Given the description of an element on the screen output the (x, y) to click on. 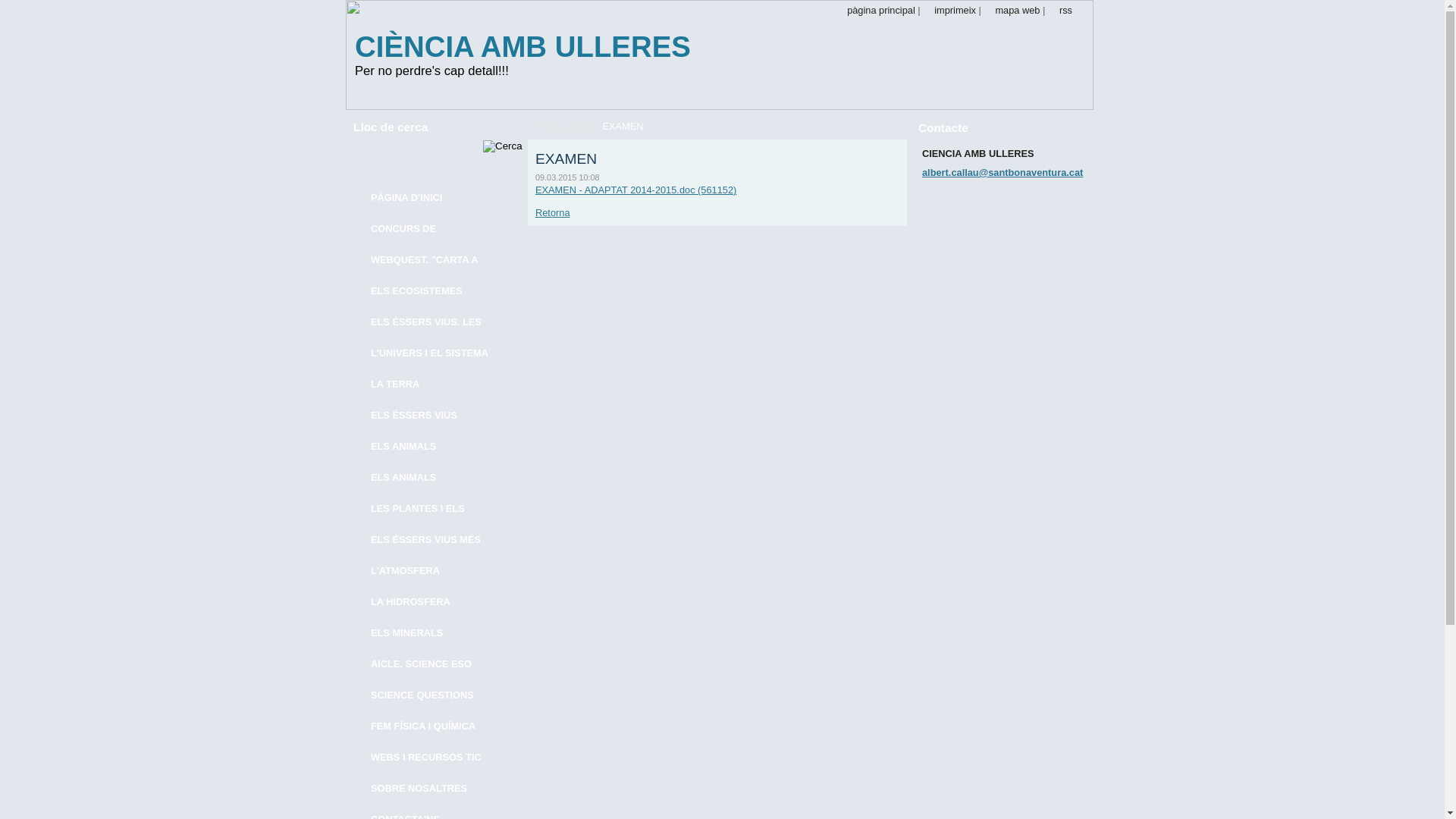
SCIENCE QUESTIONS Element type: text (426, 695)
ELS MINERALS Element type: text (426, 633)
Retorna Element type: text (552, 212)
LA TERRA Element type: text (426, 384)
mapa web Element type: text (1011, 9)
rss Element type: text (1060, 9)
L'UNIVERS I EL SISTEMA SOLAR Element type: text (426, 353)
ELS ANIMALS VERTEBRATS Element type: text (426, 446)
SOBRE NOSALTRES Element type: text (426, 788)
AICLE. SCIENCE ESO Element type: text (426, 664)
imprimeix Element type: text (948, 9)
WEBS I RECURSOS TIC Element type: text (426, 757)
ELS ANIMALS INVERTEBRATS Element type: text (426, 477)
EXAMEN - ADAPTAT 2014-2015.doc (561152) Element type: text (635, 189)
L'ATMOSFERA TERRESTRE Element type: text (426, 570)
albert.callau@santbonaventura.cat Element type: text (1002, 172)
WEBQUEST. "CARTA A LA TERRA" Element type: text (426, 260)
ELS ECOSISTEMES Element type: text (426, 291)
LES PLANTES I ELS FONGS Element type: text (426, 508)
LA HIDROSFERA Element type: text (426, 602)
